Given the description of an element on the screen output the (x, y) to click on. 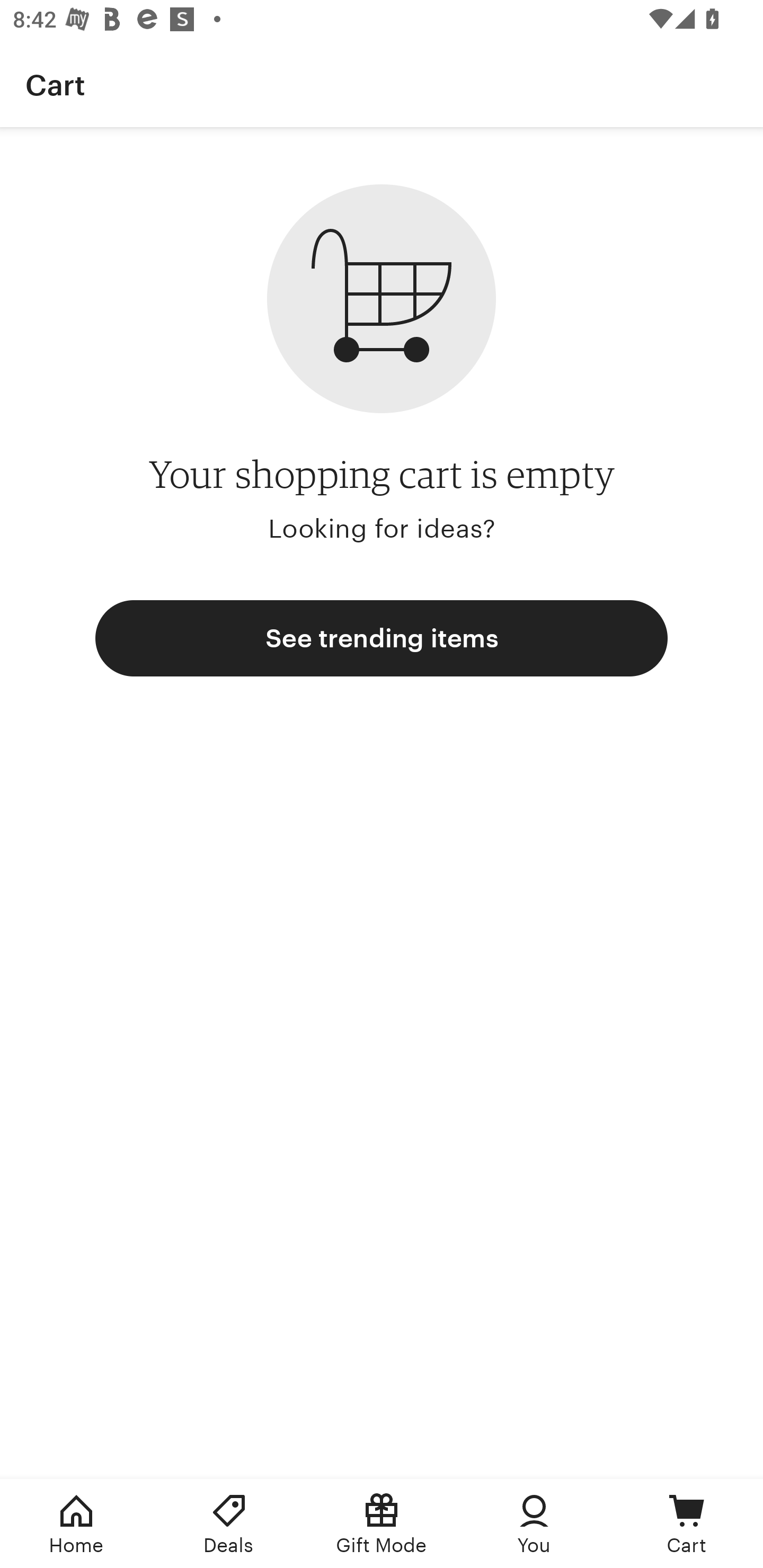
See trending items (381, 637)
Home (76, 1523)
Deals (228, 1523)
Gift Mode (381, 1523)
You (533, 1523)
